Given the description of an element on the screen output the (x, y) to click on. 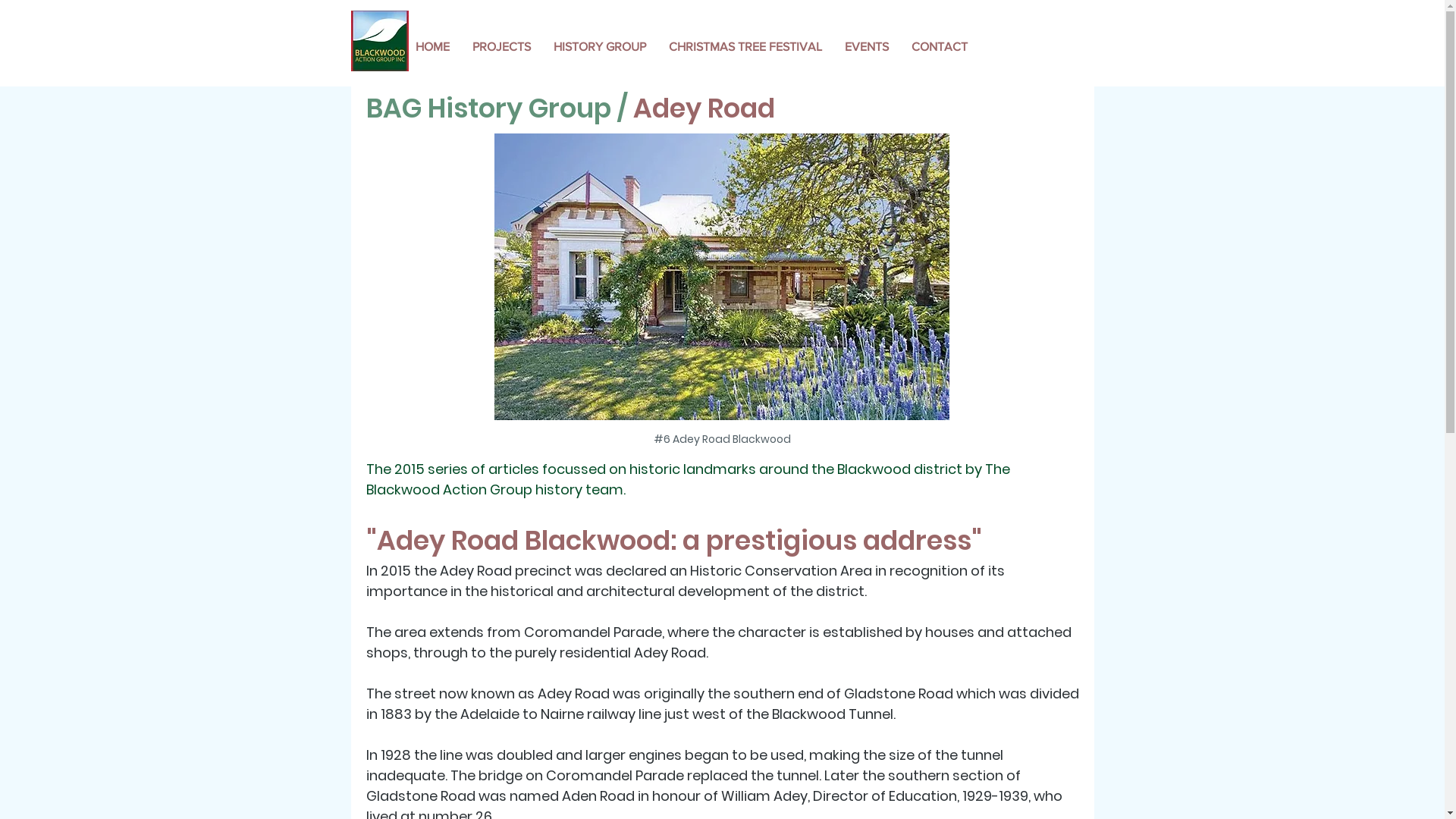
BAGLogo.jpg Element type: hover (378, 40)
HISTORY GROUP Element type: text (598, 46)
EVENTS Element type: text (865, 46)
CHRISTMAS TREE FESTIVAL Element type: text (744, 46)
CONTACT Element type: text (938, 46)
HOME Element type: text (431, 46)
